Given the description of an element on the screen output the (x, y) to click on. 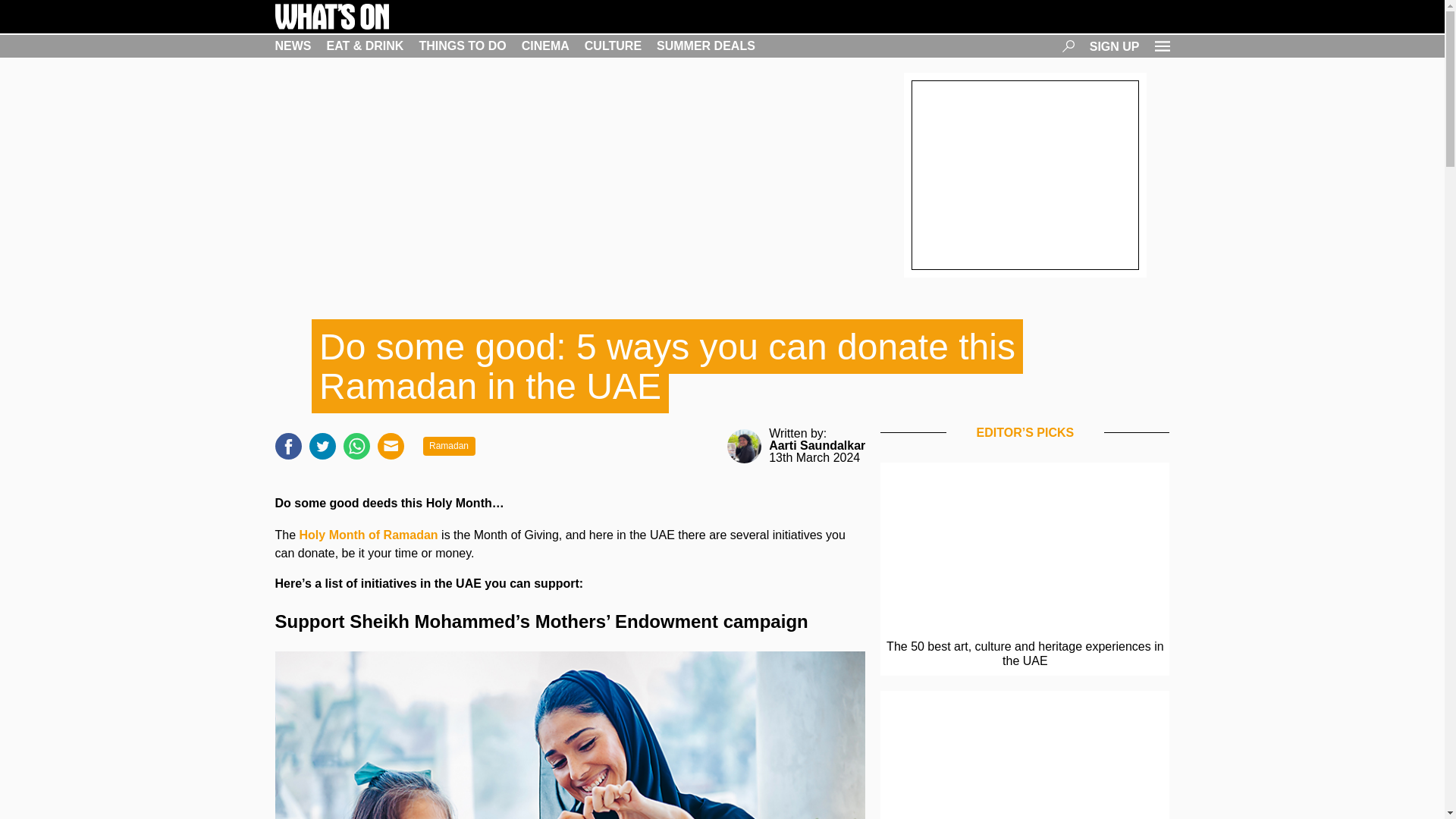
CINEMA (545, 45)
SUMMER DEALS (705, 45)
THINGS TO DO (462, 45)
CULTURE (613, 45)
SIGN UP (1114, 45)
NEWS (293, 45)
